Given the description of an element on the screen output the (x, y) to click on. 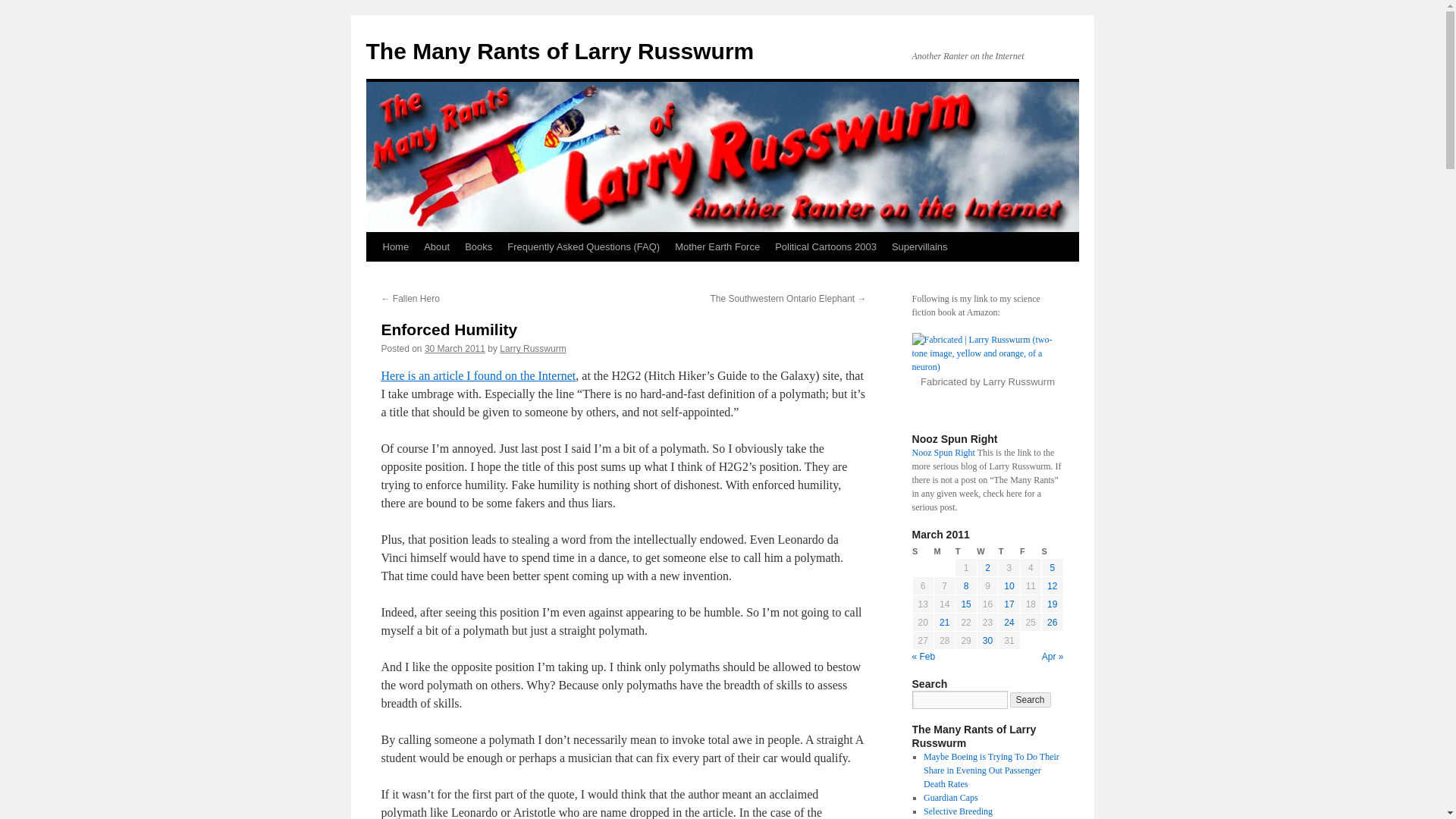
View all posts by Larry Russwurm (532, 348)
Friday (1030, 551)
Sunday (922, 551)
Books (478, 246)
Mother Earth Force (716, 246)
Political Cartoons 2003 (825, 246)
Saturday (1052, 551)
Larry Russwurm (532, 348)
Wednesday (986, 551)
Thursday (1009, 551)
